Given the description of an element on the screen output the (x, y) to click on. 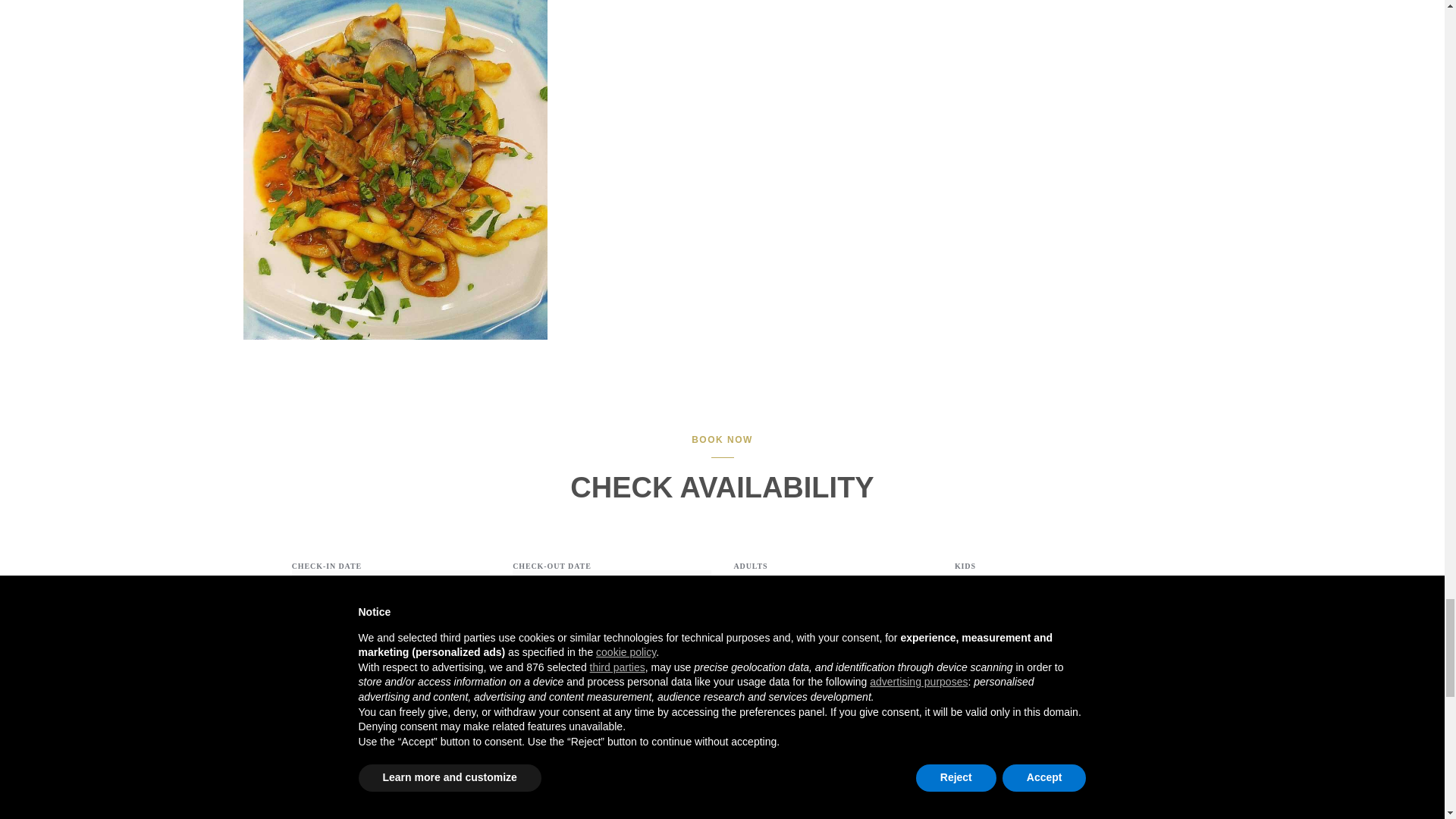
1 (832, 589)
0 (1054, 589)
